Given the description of an element on the screen output the (x, y) to click on. 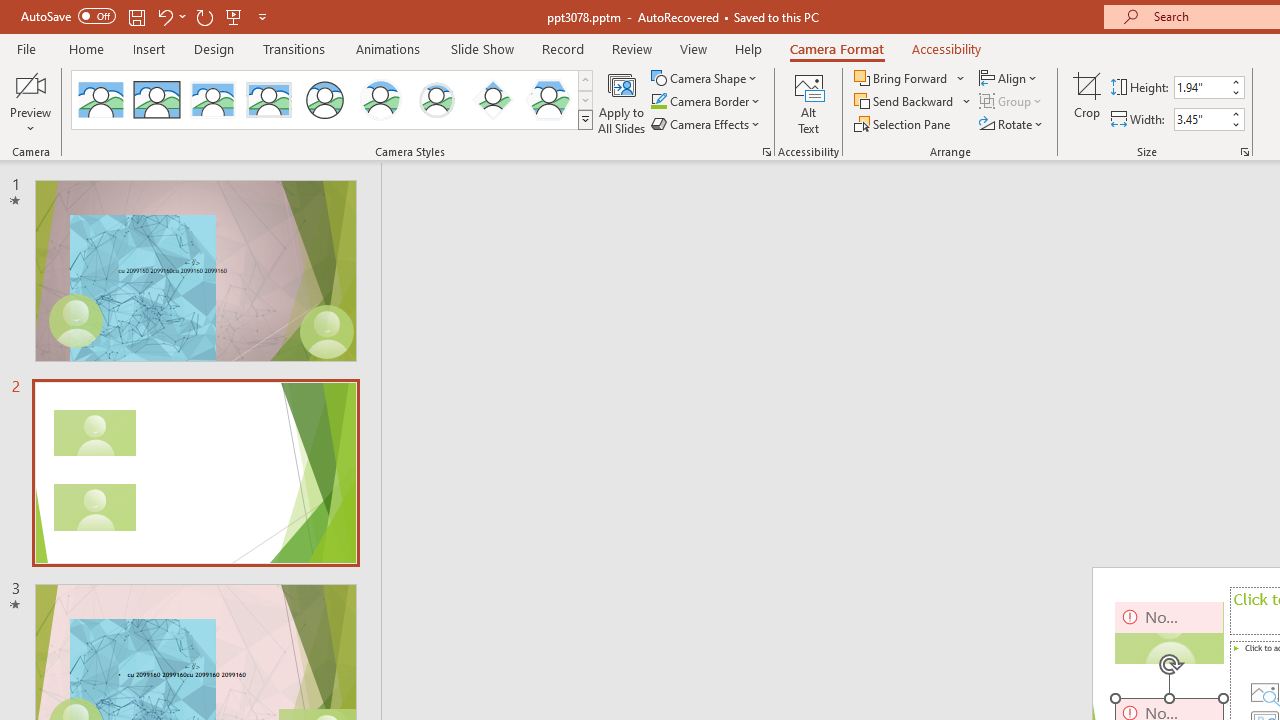
Cameo Height (1201, 87)
Enable Camera Preview (30, 84)
Camera Format (836, 48)
Simple Frame Rectangle (157, 100)
No Style (100, 100)
Selection Pane... (904, 124)
Camera Effects (706, 124)
Send Backward (905, 101)
